Given the description of an element on the screen output the (x, y) to click on. 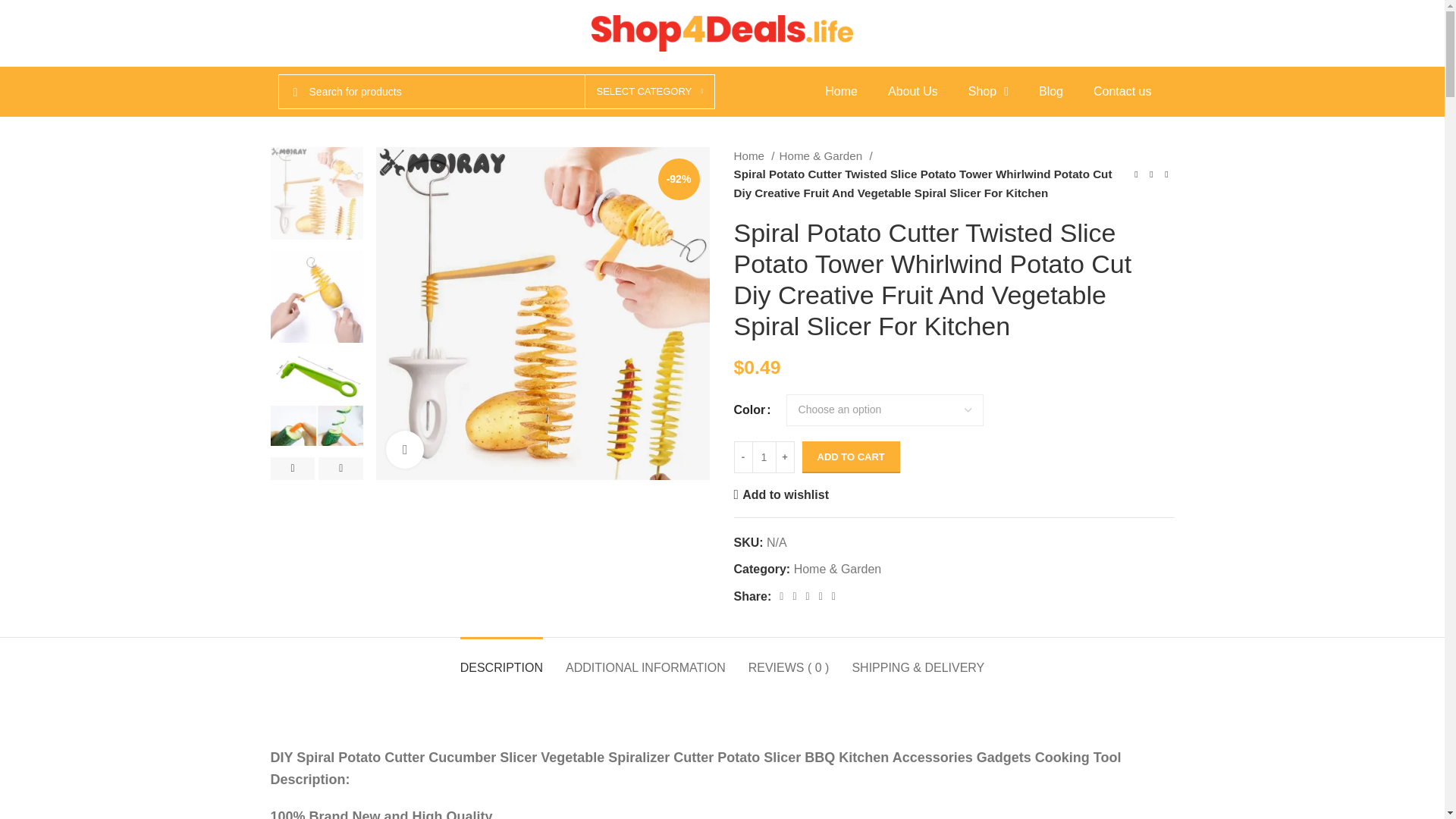
Contact us (1122, 91)
SEARCH (295, 91)
Search for products (496, 91)
About Us (912, 91)
SELECT CATEGORY (648, 91)
1 (763, 457)
- (742, 457)
SELECT CATEGORY (648, 91)
Blog (1050, 91)
Shop (988, 91)
Home (840, 91)
